Given the description of an element on the screen output the (x, y) to click on. 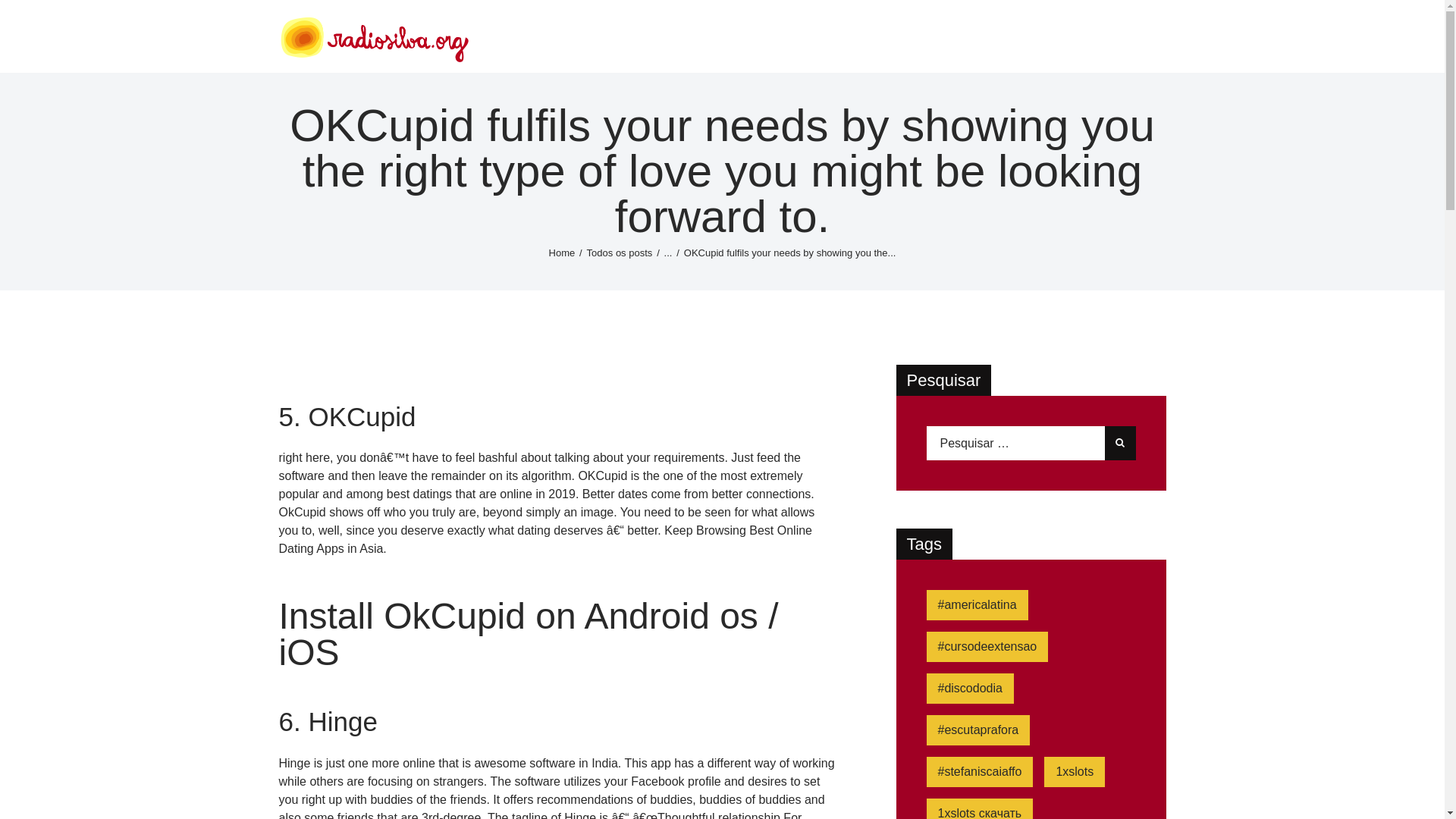
1xslots (1074, 771)
Todos os posts (619, 252)
Home (561, 252)
